Given the description of an element on the screen output the (x, y) to click on. 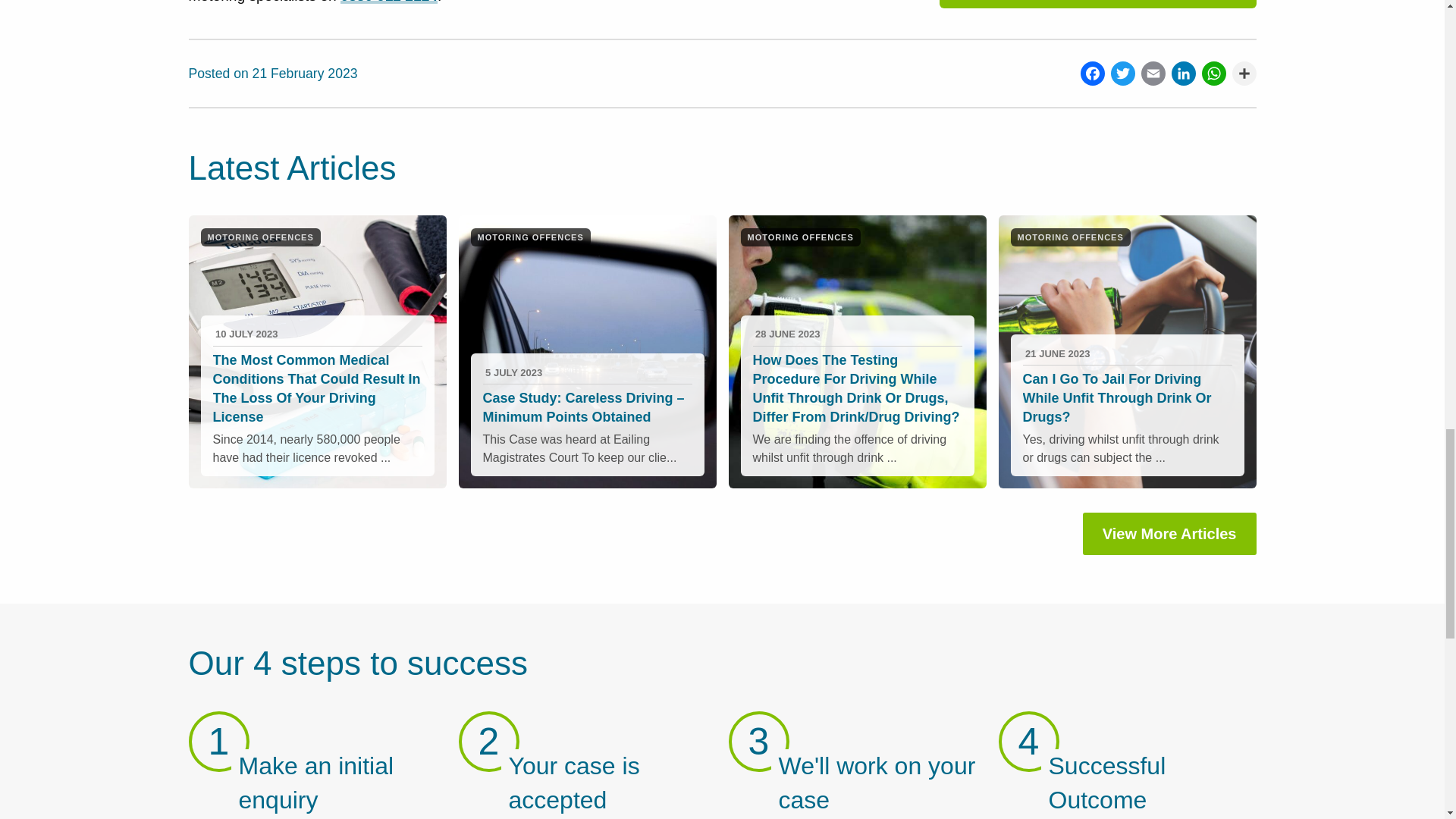
Facebook (1088, 73)
WhatsApp (1210, 73)
LinkedIn (1179, 73)
Email (1149, 73)
Twitter (1118, 73)
